Given the description of an element on the screen output the (x, y) to click on. 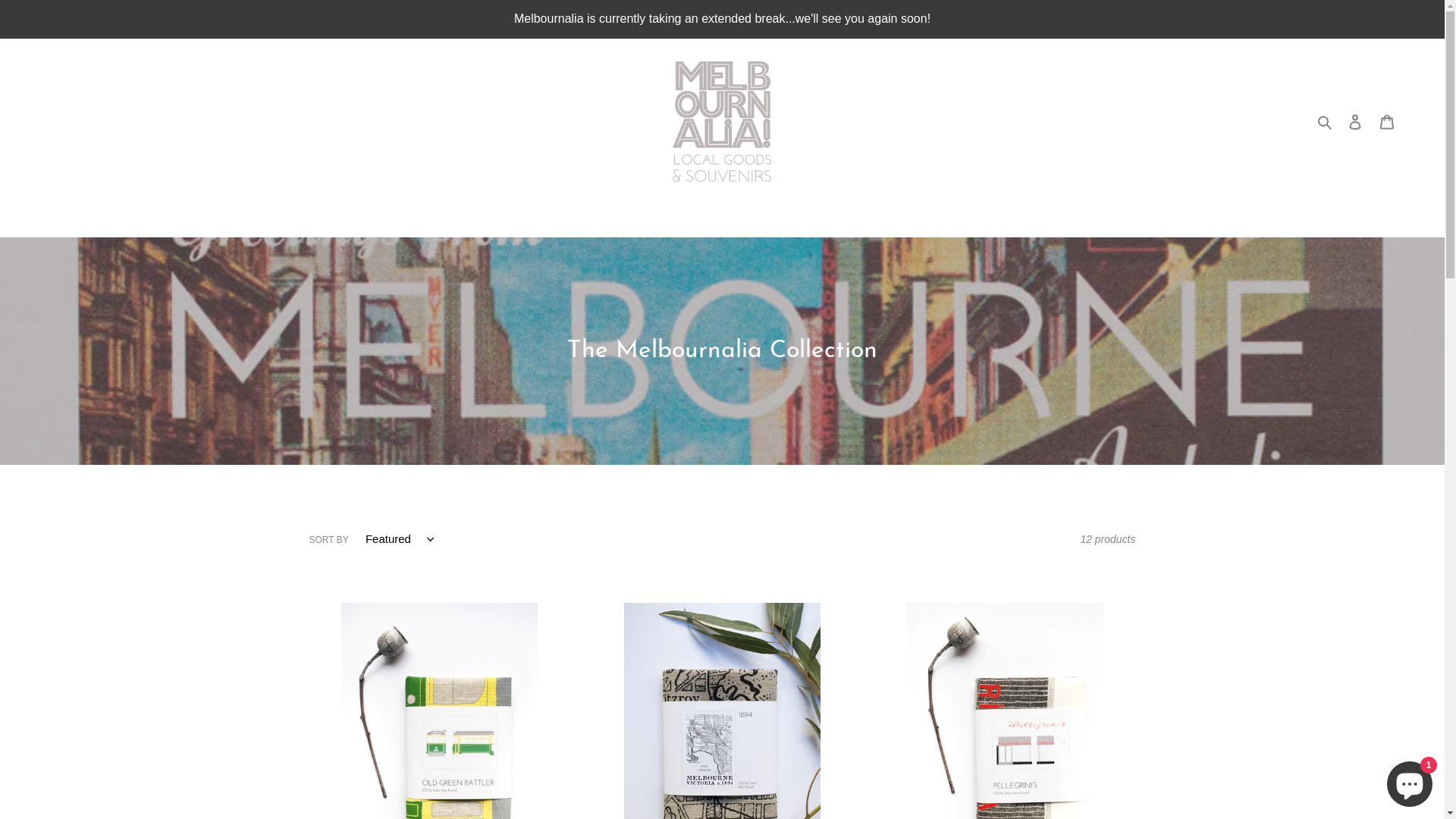
Cart Element type: text (1386, 121)
Shopify online store chat Element type: hover (1409, 780)
Log in Element type: text (1355, 121)
Search Element type: text (1325, 121)
